Given the description of an element on the screen output the (x, y) to click on. 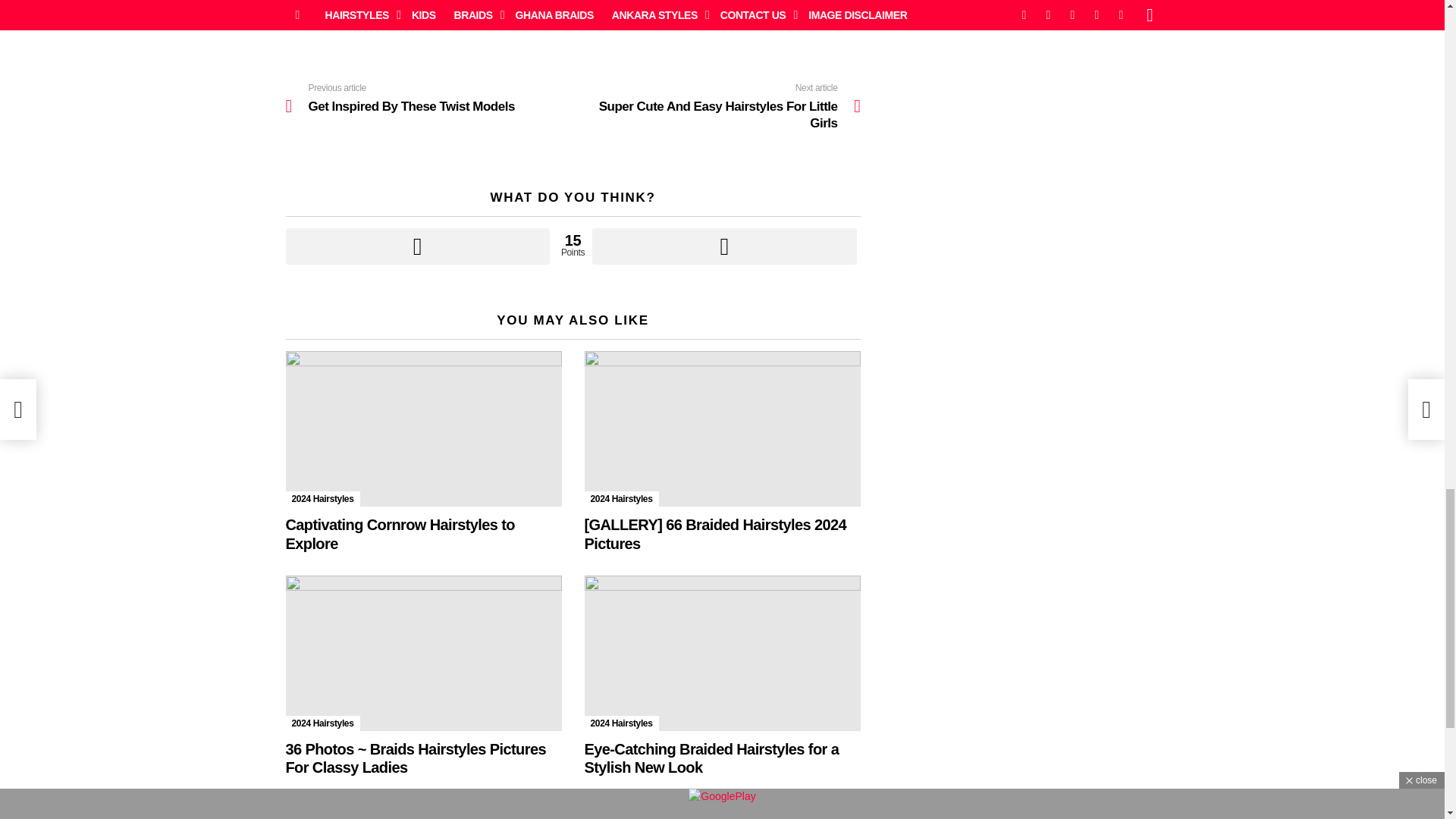
Captivating Cornrow Hairstyles to Explore (422, 428)
Downvote (724, 246)
Eye-Catching Braided Hairstyles for a Stylish New Look (721, 653)
Upvote (416, 246)
